Given the description of an element on the screen output the (x, y) to click on. 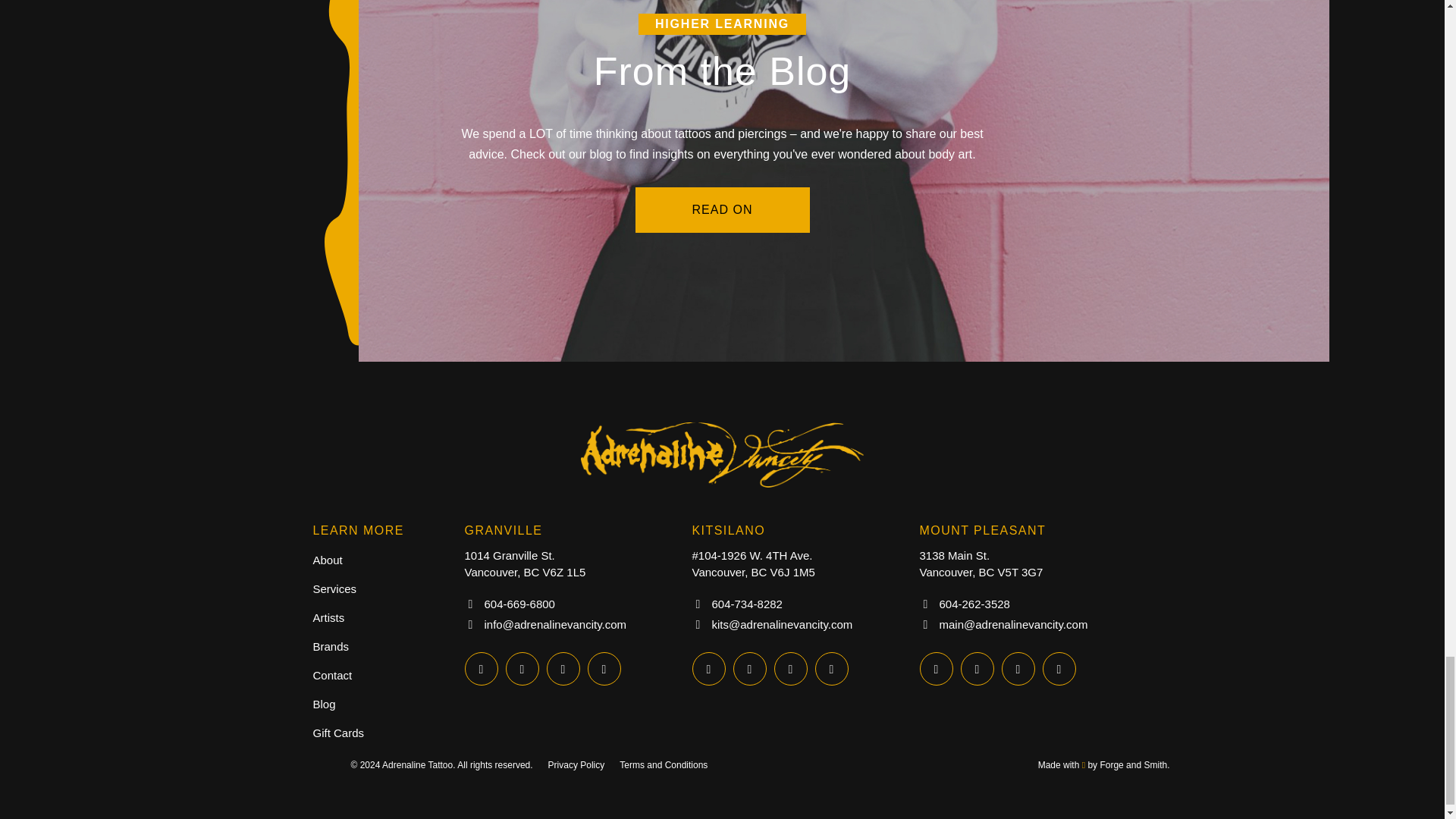
About (327, 559)
Services (334, 588)
READ ON (721, 209)
Adrenaline Tattoo (721, 491)
